Given the description of an element on the screen output the (x, y) to click on. 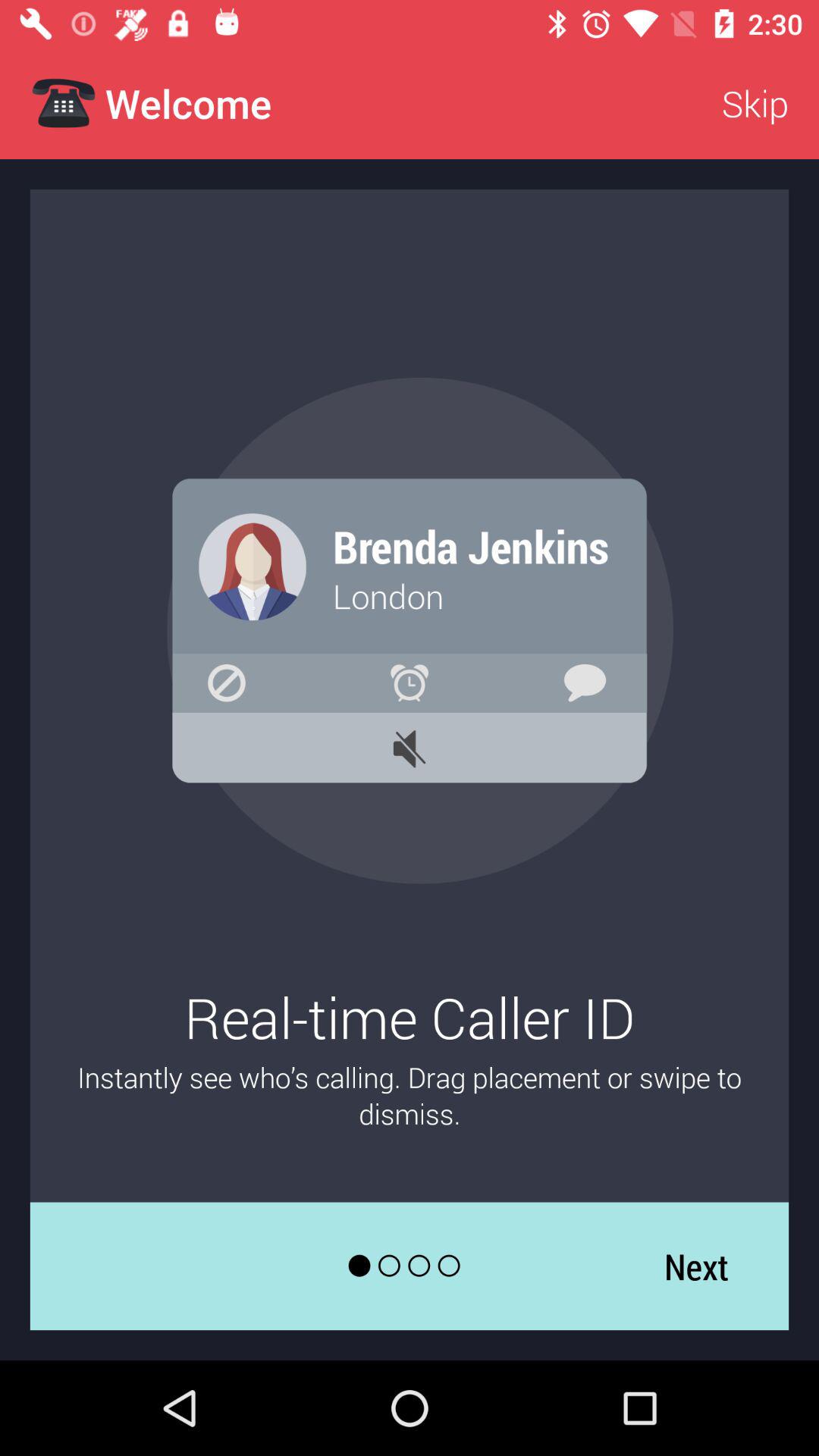
tap the icon at the top right corner (755, 103)
